Given the description of an element on the screen output the (x, y) to click on. 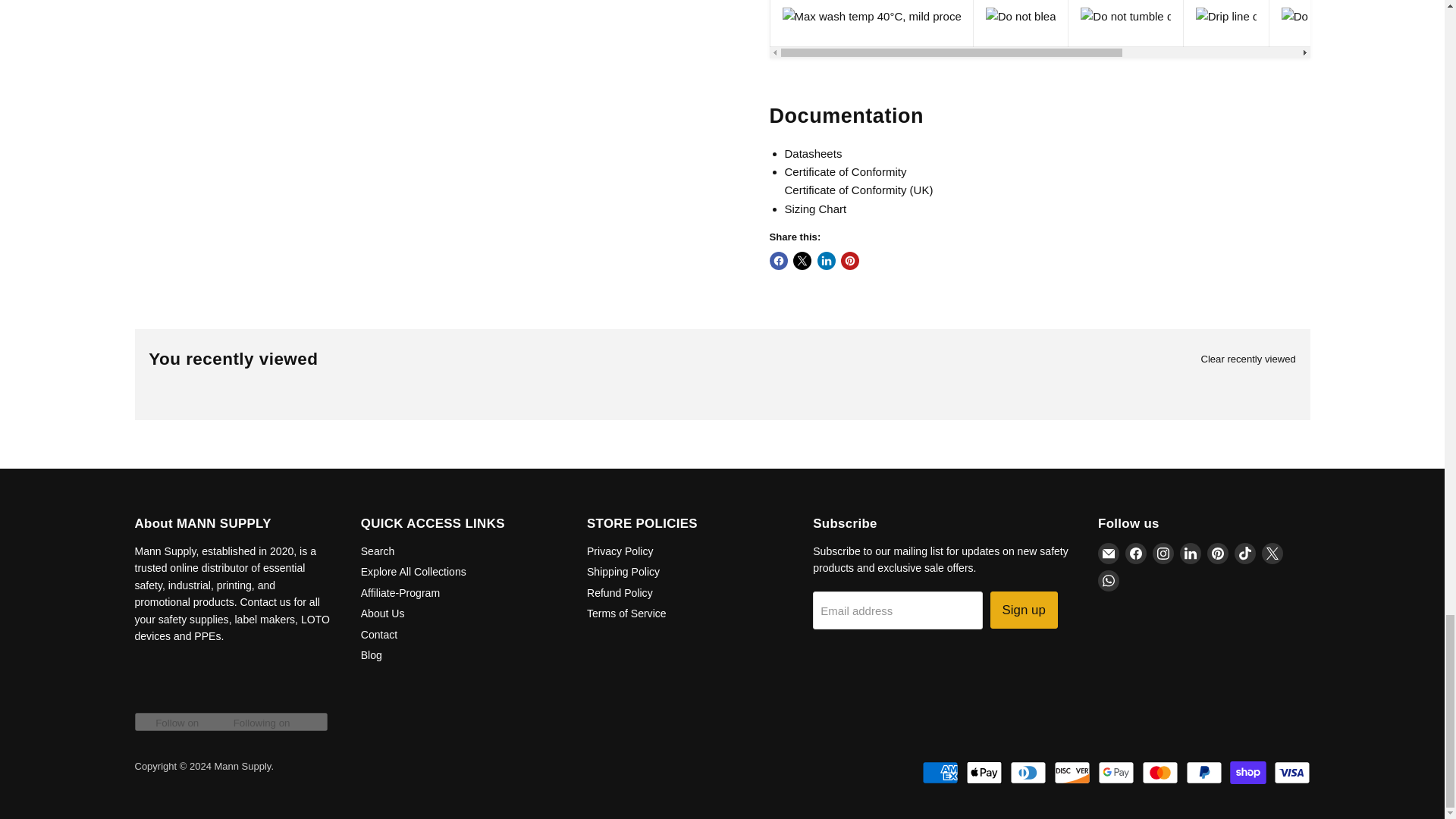
Email (1108, 553)
Do not bleach (1021, 16)
Facebook (1136, 553)
LinkedIn (1190, 553)
Instagram (1163, 553)
Drip line dry (1225, 16)
Do not tumble dry (1125, 16)
Pinterest (1217, 553)
Do not iron (1308, 16)
